Given the description of an element on the screen output the (x, y) to click on. 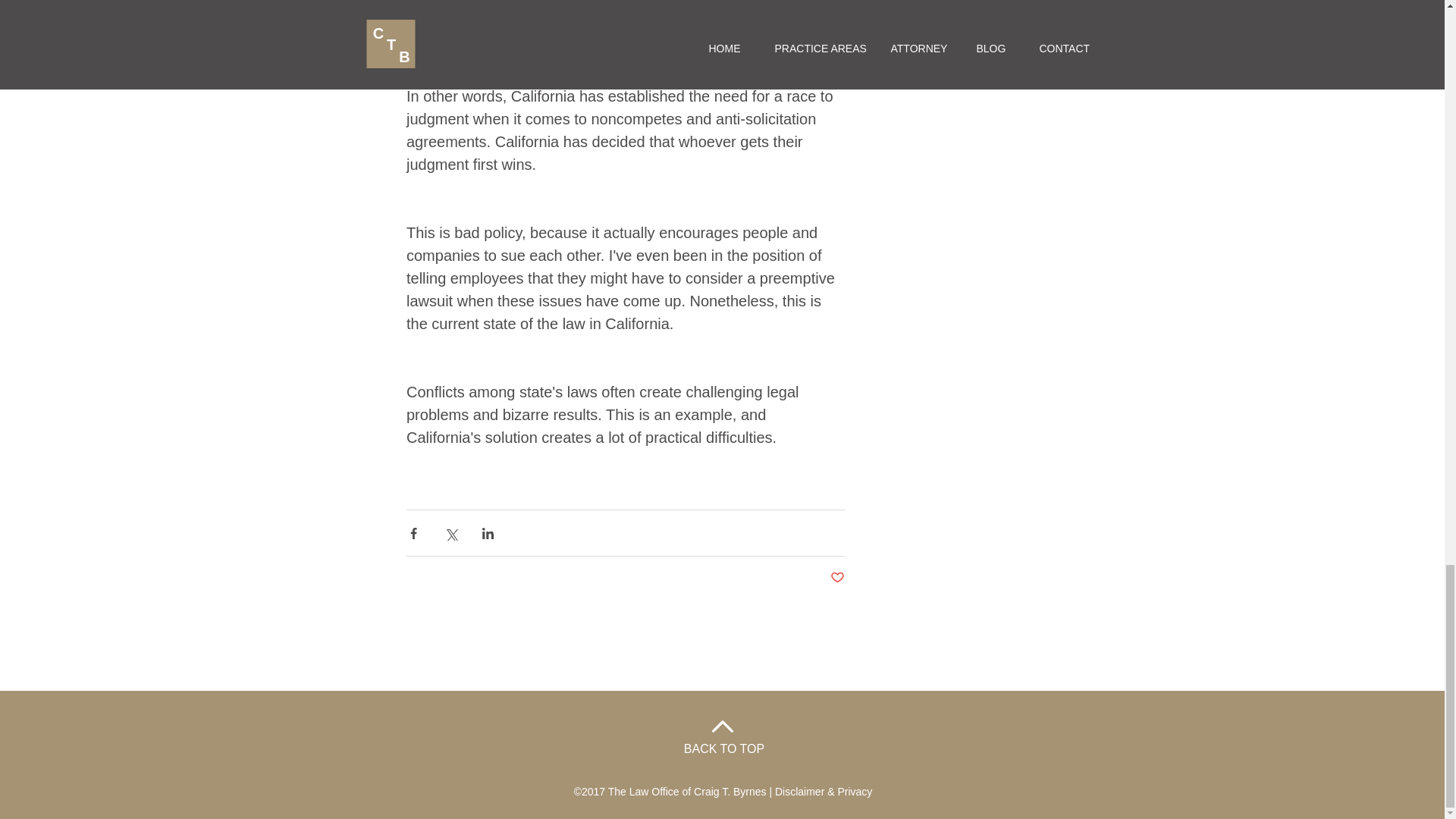
Post not marked as liked (836, 578)
